Given the description of an element on the screen output the (x, y) to click on. 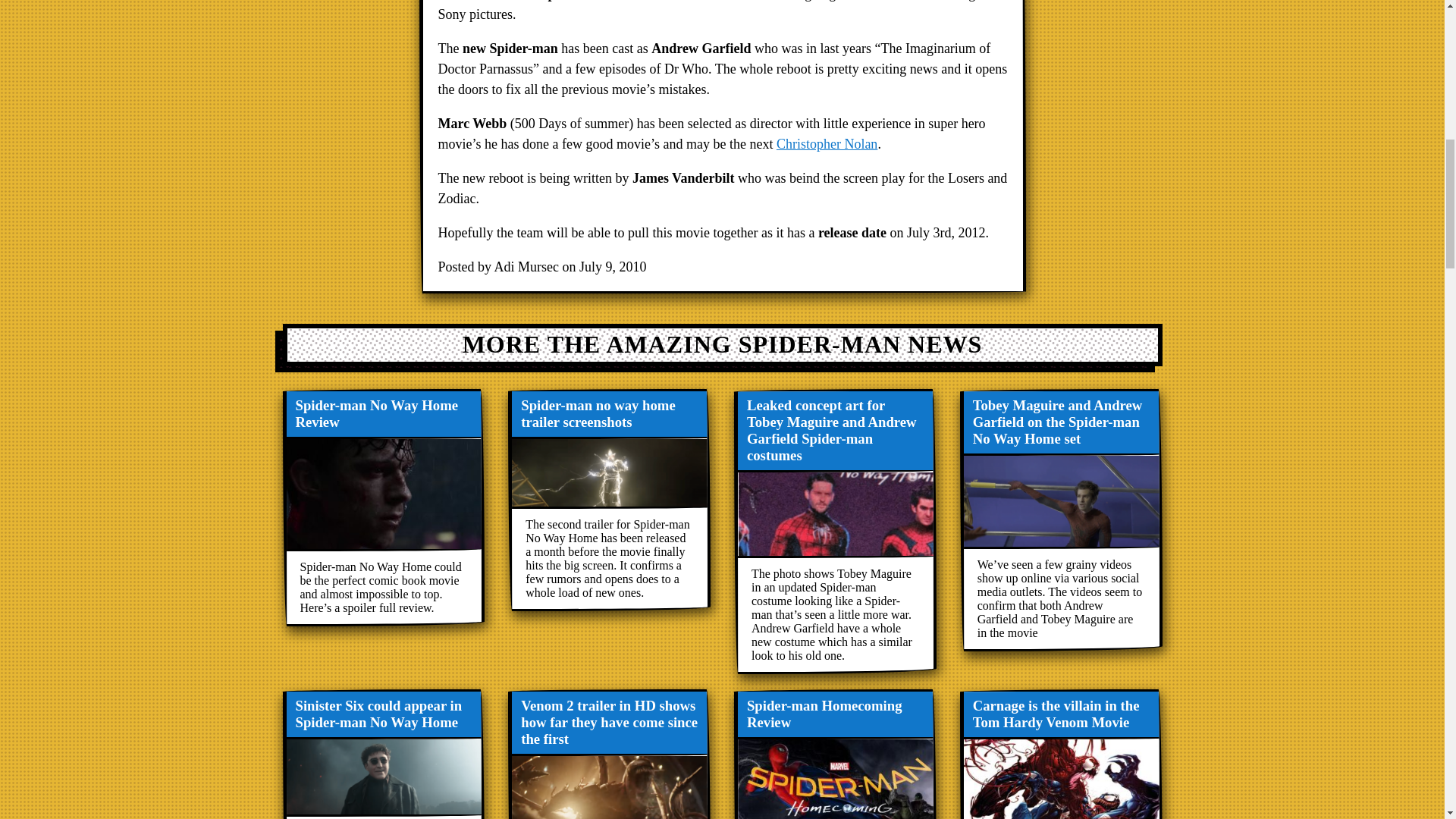
batman 3 (826, 143)
Carnage is the villain in the Tom Hardy Venom Movie (1060, 754)
Sinister Six could appear in Spider-man No Way Home (383, 754)
Christopher Nolan (826, 143)
Spider-man Homecoming Review (834, 754)
Spider-man no way home trailer screenshots (609, 499)
